Given the description of an element on the screen output the (x, y) to click on. 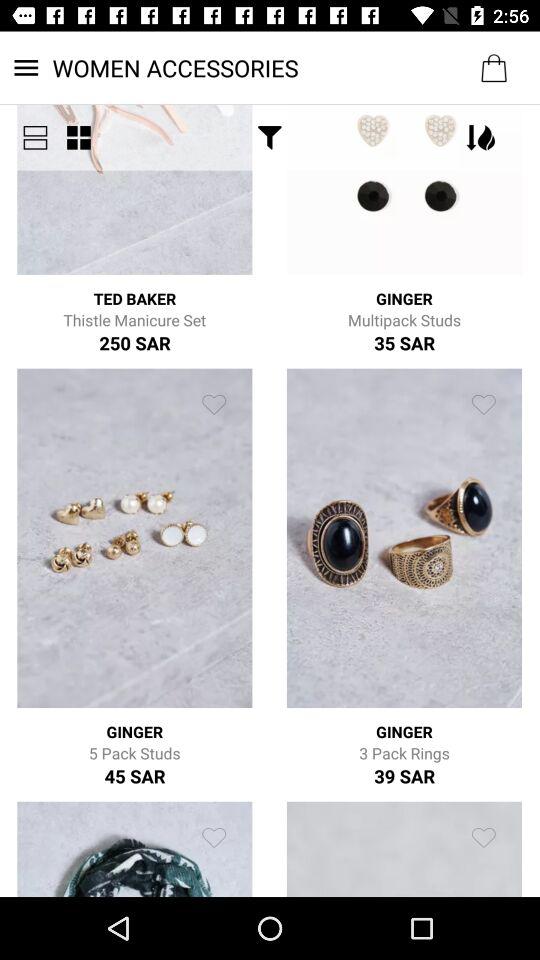
select the icon above the ted baker (78, 137)
